Given the description of an element on the screen output the (x, y) to click on. 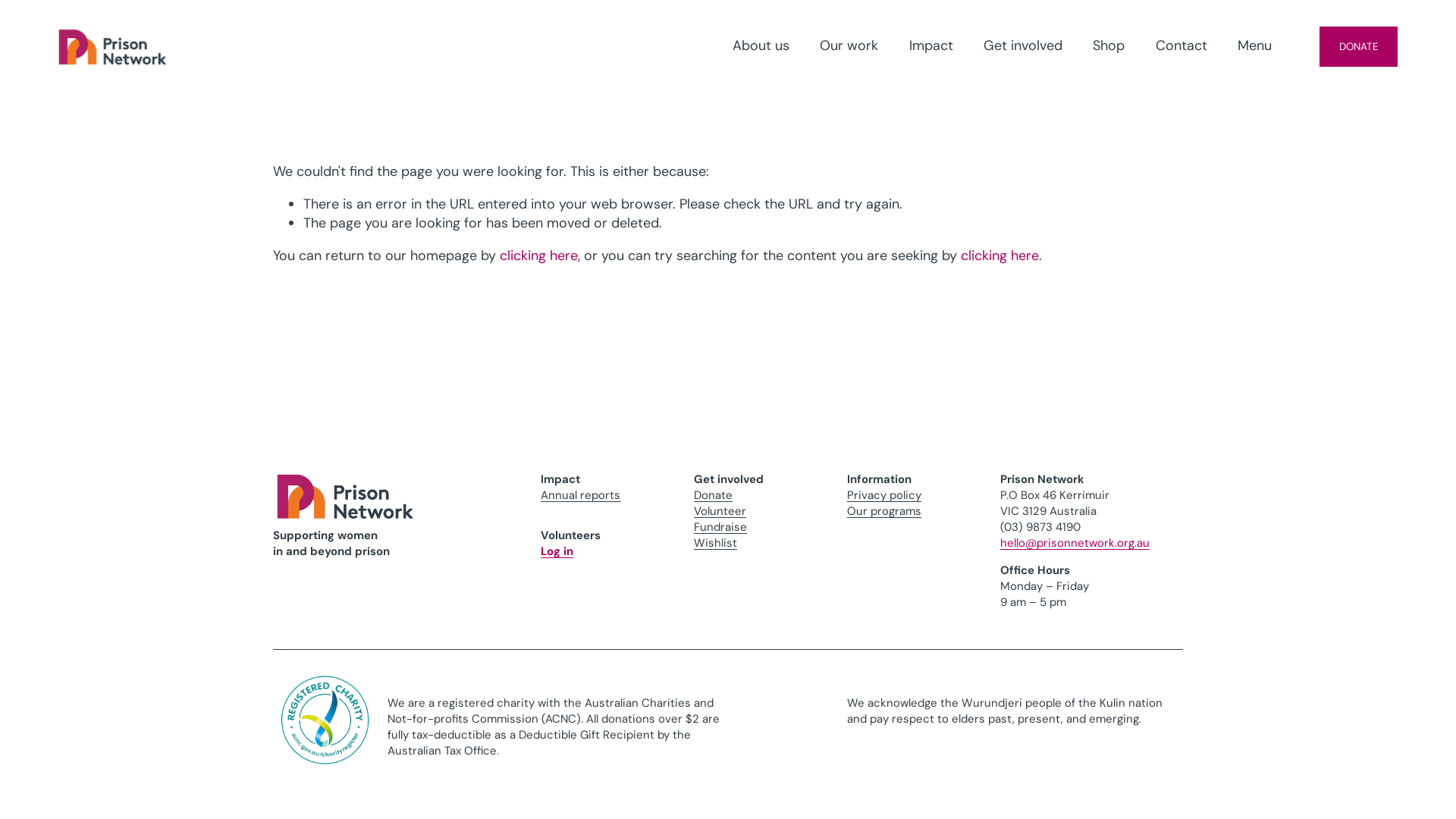
hello@prisonnetwork.org.au Element type: text (1074, 543)
Annual reports Element type: text (580, 495)
Get involved Element type: text (1022, 46)
Wishlist Element type: text (715, 543)
About us Element type: text (760, 46)
Our work Element type: text (848, 46)
Shop Element type: text (1108, 46)
Our programs Element type: text (884, 511)
clicking here Element type: text (538, 255)
Fundraise Element type: text (719, 527)
Menu Element type: text (1254, 46)
Contact Element type: text (1181, 46)
Donate Element type: text (712, 495)
Privacy policy Element type: text (884, 495)
clicking here Element type: text (999, 255)
DONATE Element type: text (1358, 46)
Impact Element type: text (931, 46)
Volunteer Element type: text (719, 511)
Log in Element type: text (556, 551)
